Given the description of an element on the screen output the (x, y) to click on. 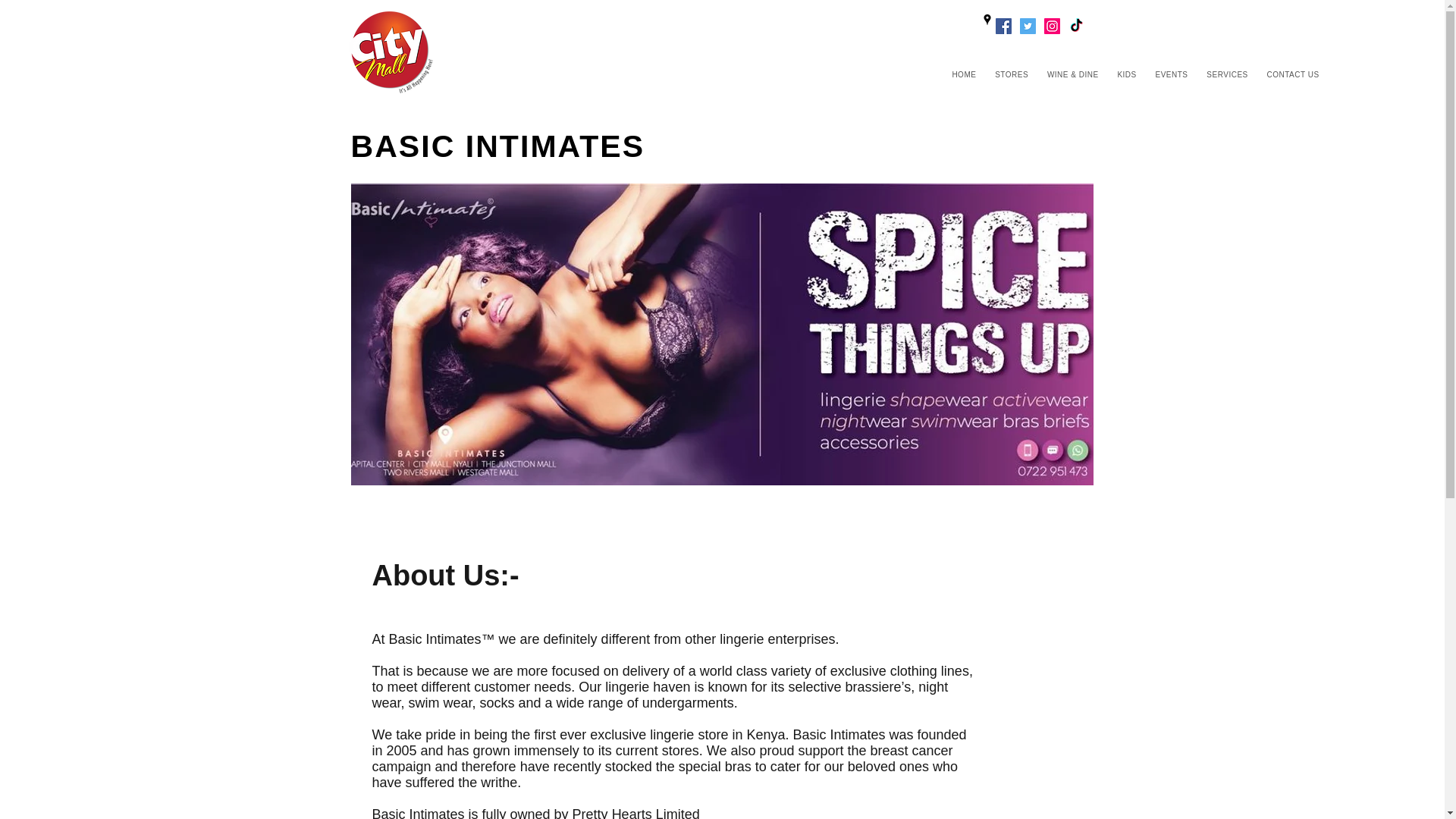
CONTACT US (1292, 73)
HOME (963, 73)
SERVICES (1226, 73)
EVENTS (1171, 73)
STORES (1011, 73)
KIDS (1126, 73)
